Given the description of an element on the screen output the (x, y) to click on. 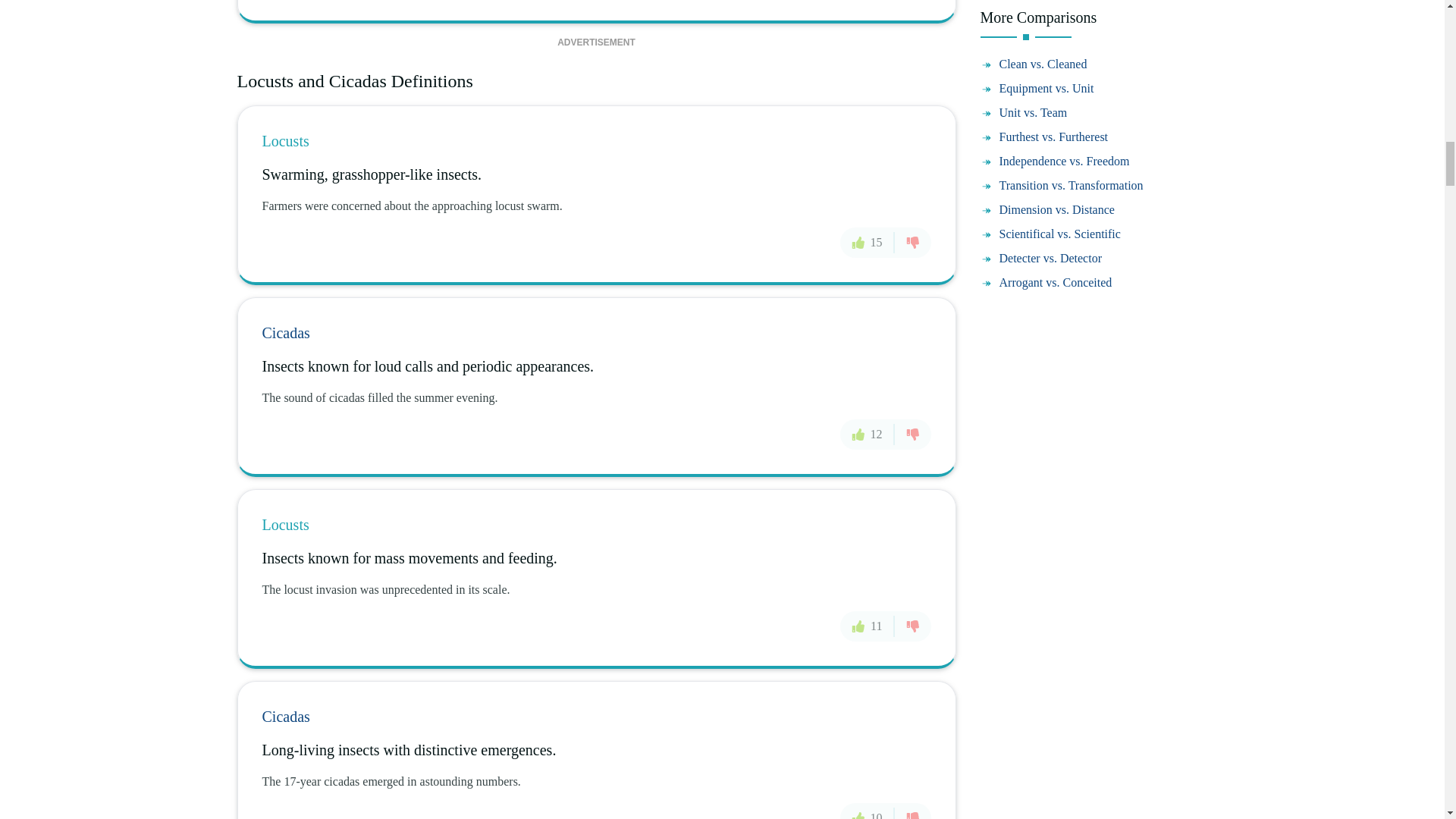
10 (867, 810)
12 (867, 433)
11 (866, 625)
15 (867, 242)
